Given the description of an element on the screen output the (x, y) to click on. 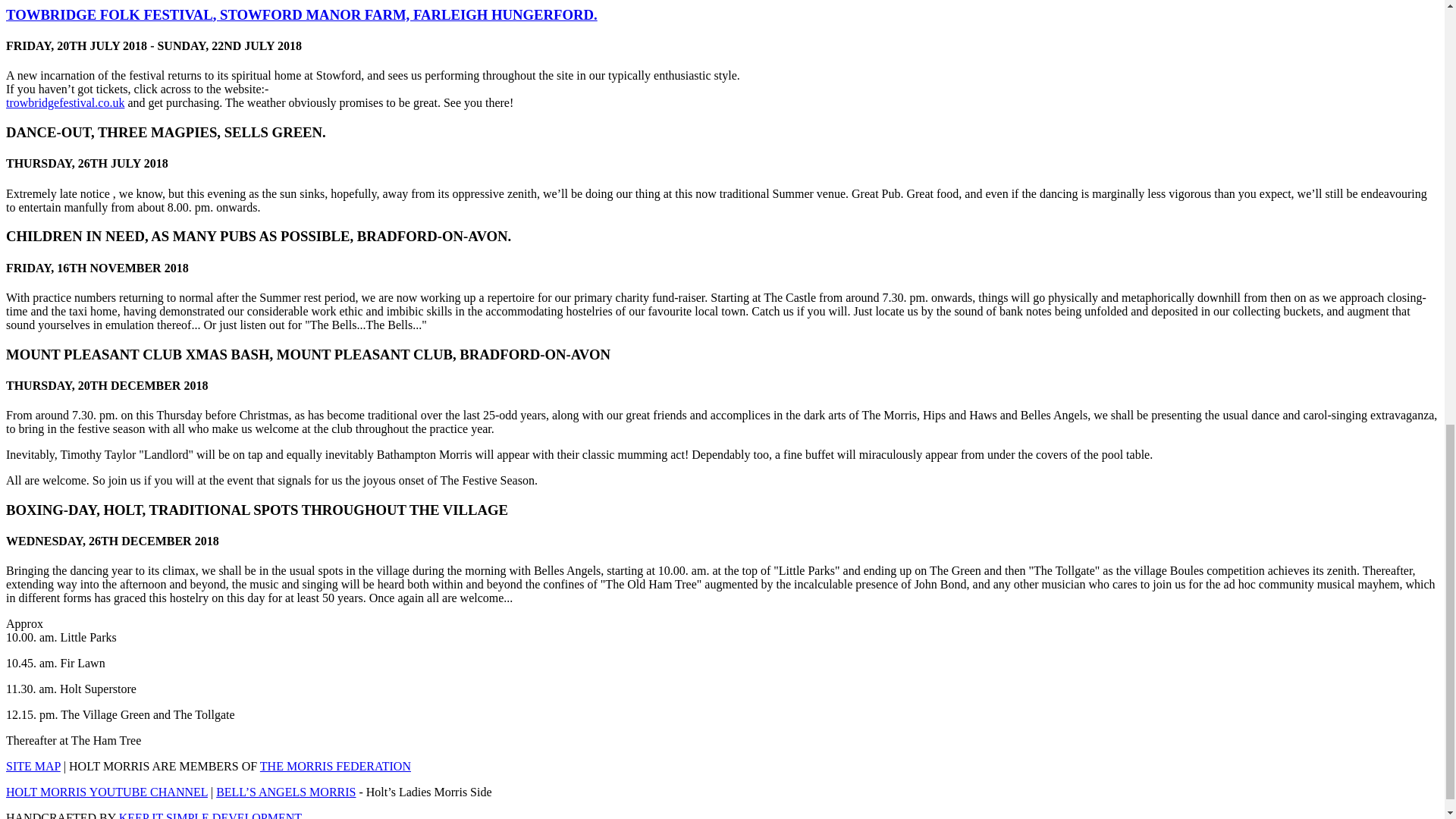
HOLT MORRIS YOUTUBE CHANNEL (106, 791)
SITE MAP (33, 766)
trowbridgefestival.co.uk (64, 102)
THE MORRIS FEDERATION (335, 766)
